Given the description of an element on the screen output the (x, y) to click on. 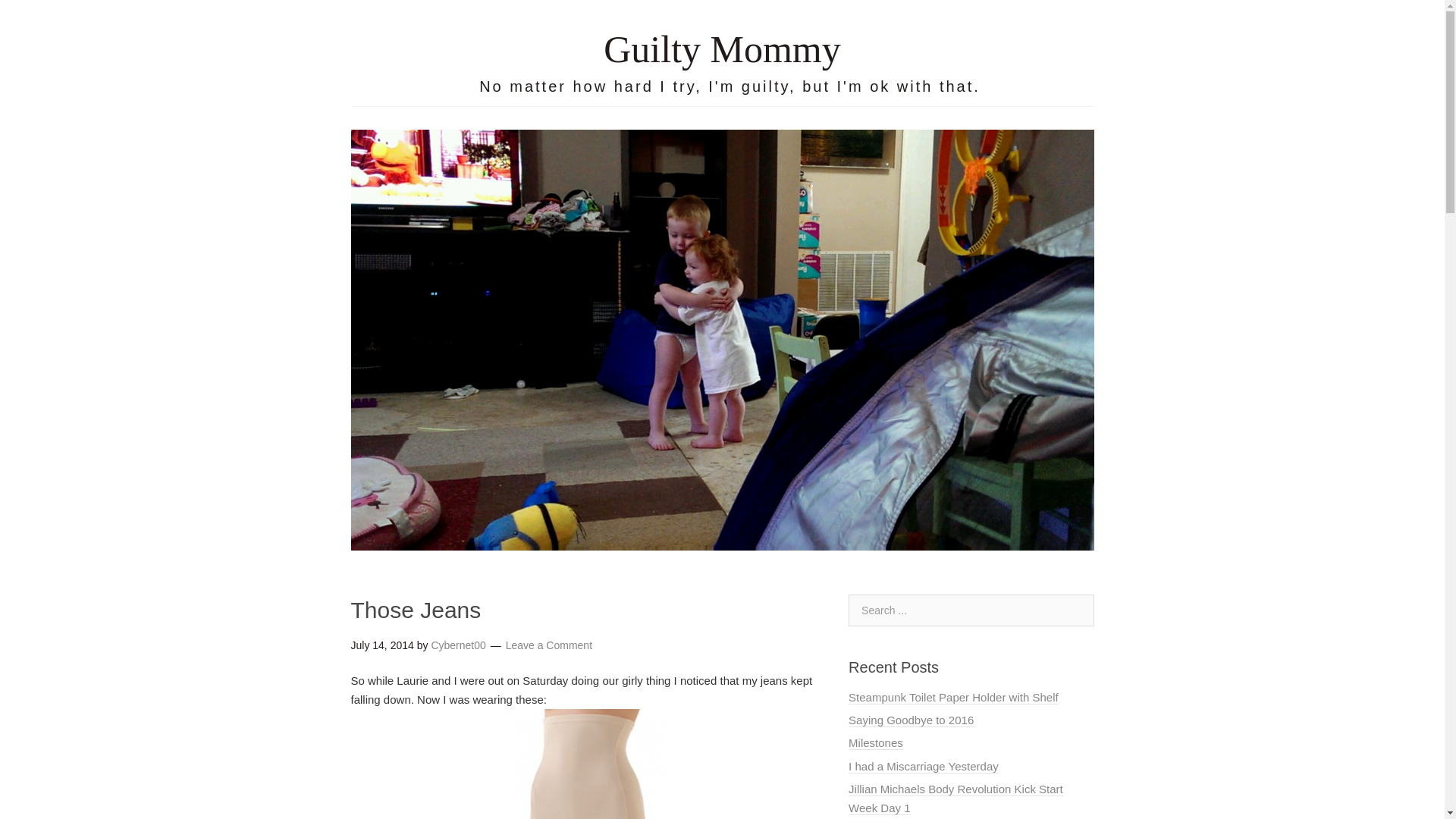
Saying Goodbye to 2016 (911, 720)
I had a Miscarriage Yesterday (923, 766)
Cybernet00 (457, 645)
Milestones (875, 743)
Posts by Cybernet00 (457, 645)
Search for: (970, 610)
Guilty Mommy (722, 48)
Leave a Comment (548, 645)
